Given the description of an element on the screen output the (x, y) to click on. 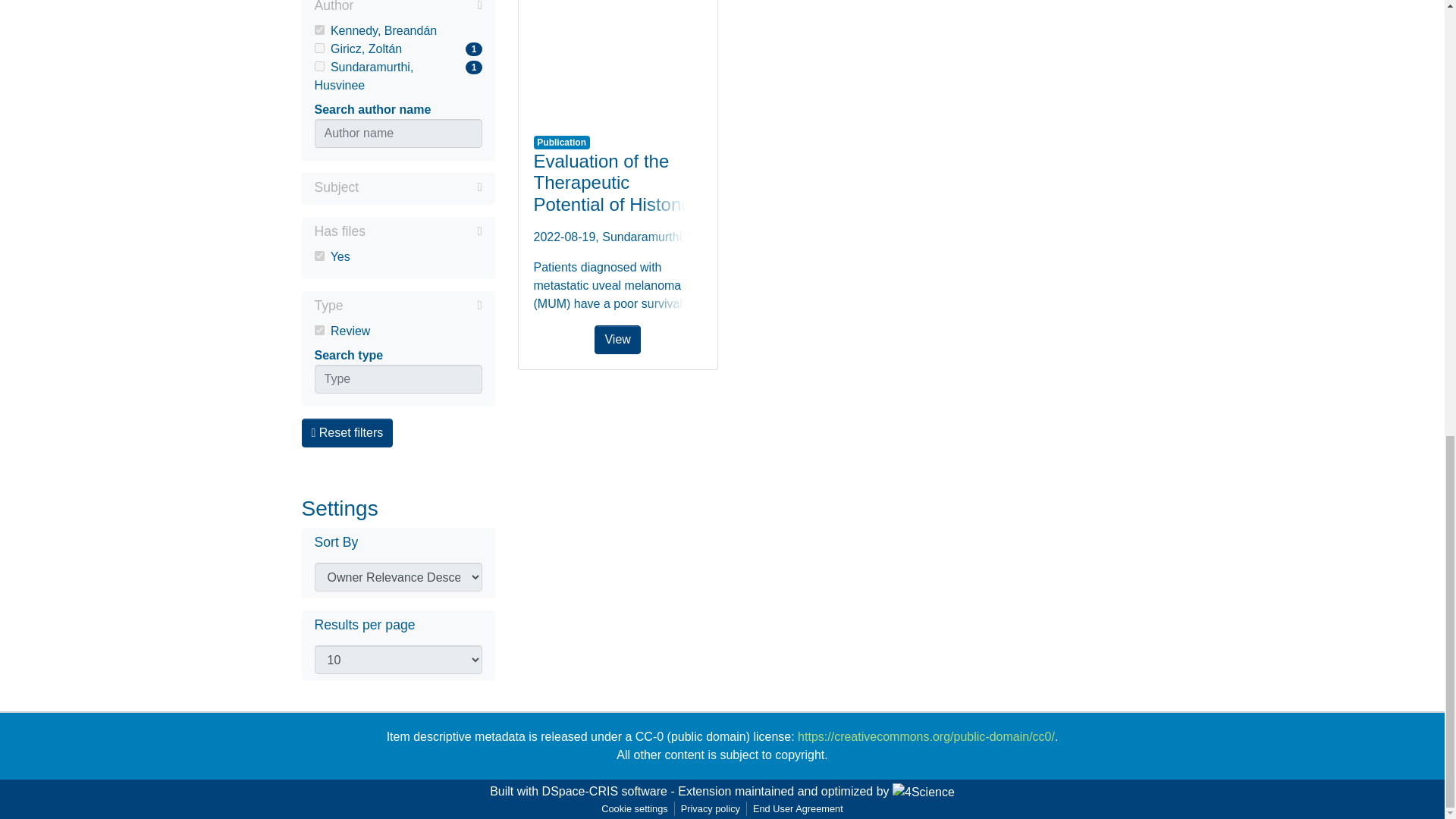
Subject (397, 188)
Expand filter (419, 187)
View (617, 58)
Author (397, 7)
Collapse filter (423, 230)
Collapse filter (417, 7)
on (318, 48)
on (397, 76)
on (318, 30)
on (318, 329)
Collapse filter (318, 255)
on (412, 305)
